Given the description of an element on the screen output the (x, y) to click on. 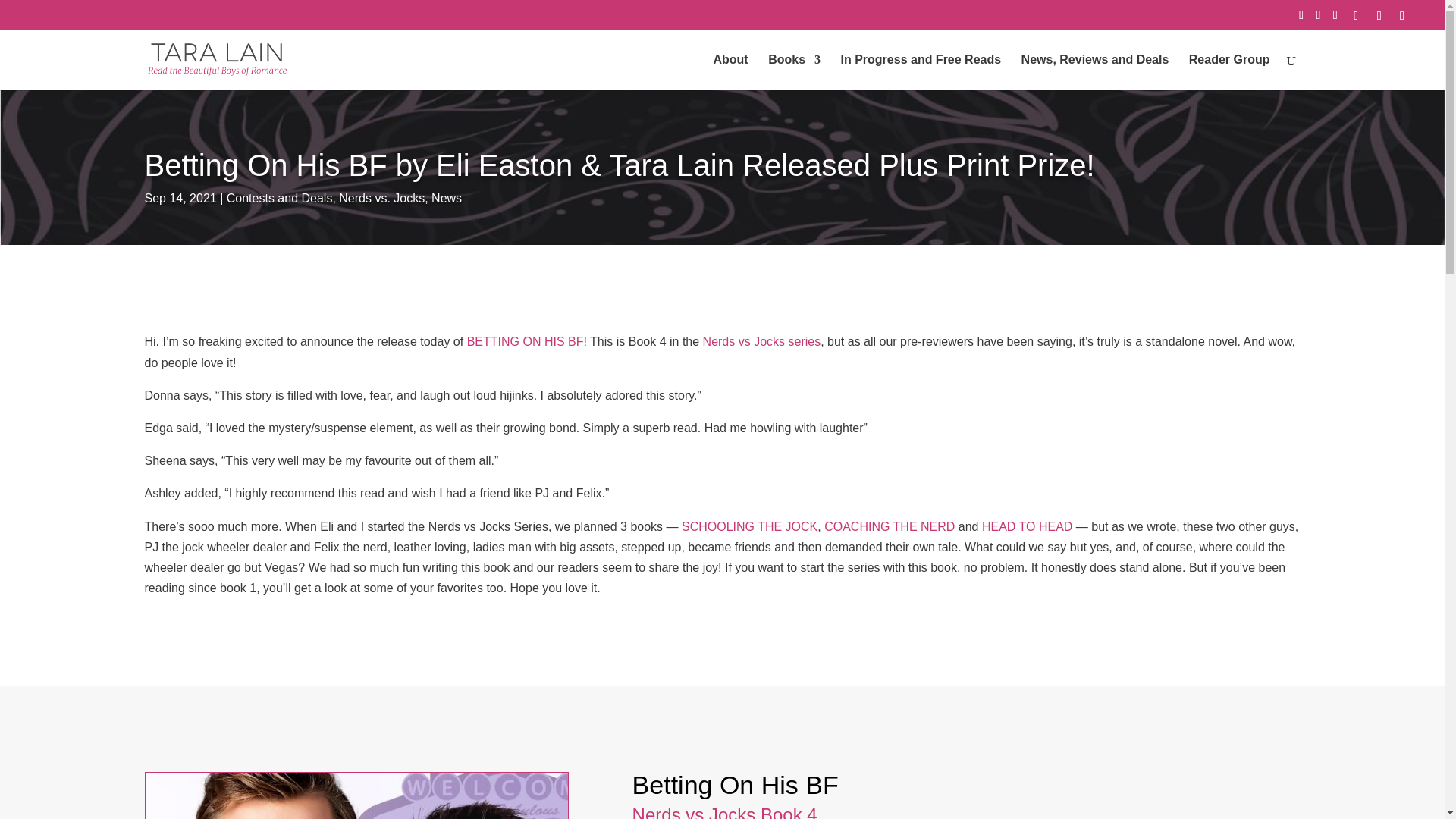
About (730, 72)
Reader Group (1229, 72)
Betting On His BF by Eli Easton and Tara Lain (356, 796)
Books (794, 72)
In Progress and Free Reads (920, 72)
Cover of Betting On His BF by Eli Easton and Tara Lain (355, 795)
News, Reviews and Deals (1095, 72)
